Given the description of an element on the screen output the (x, y) to click on. 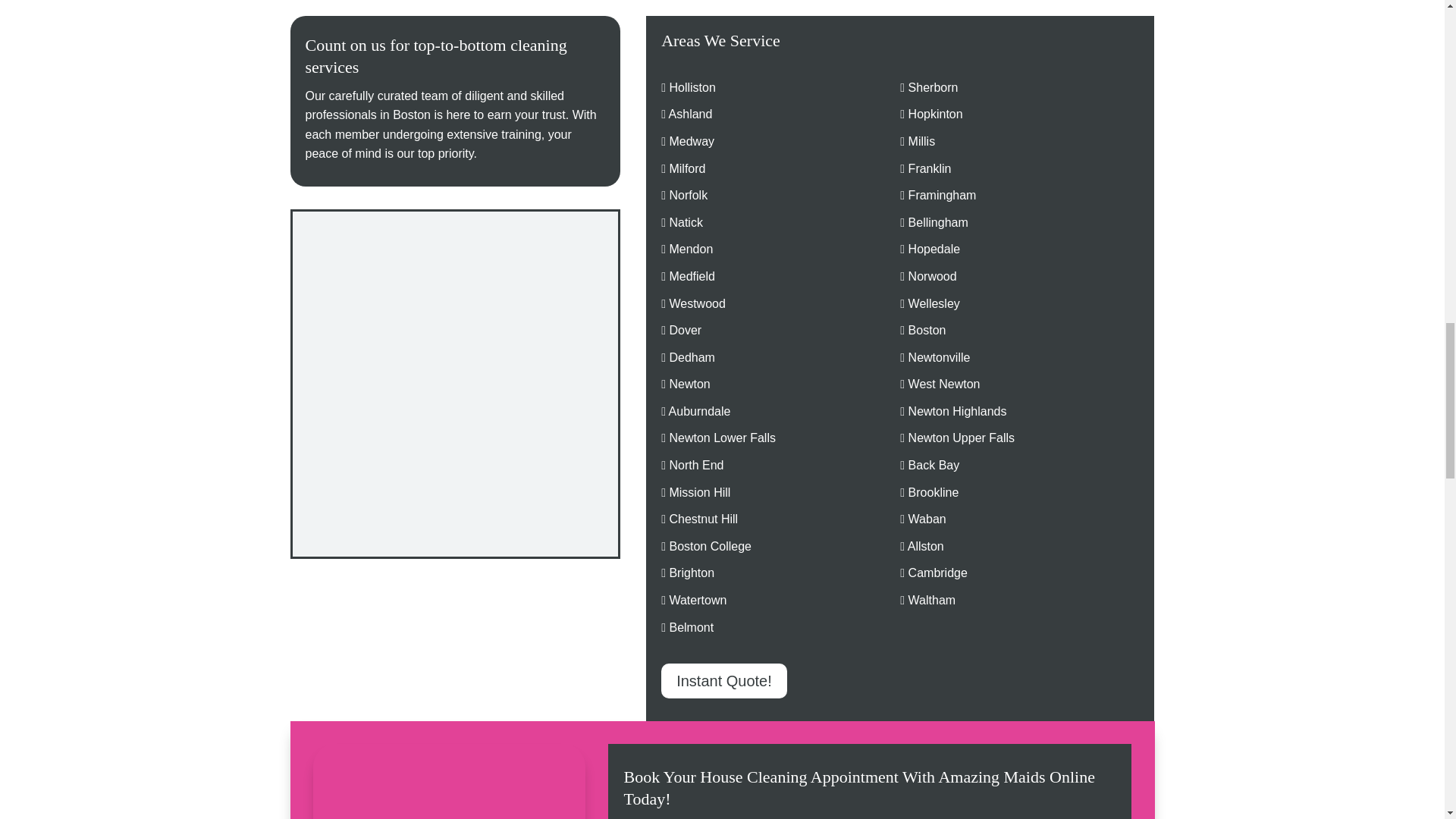
Mendon (690, 248)
Milford (686, 168)
Medway (691, 141)
Ashland (690, 113)
Holliston (691, 87)
Hopkinton (935, 113)
Franklin (930, 168)
Framingham (942, 195)
Sherborn (933, 87)
Bellingham (938, 222)
Natick (684, 222)
Norfolk (687, 195)
Millis (922, 141)
